Given the description of an element on the screen output the (x, y) to click on. 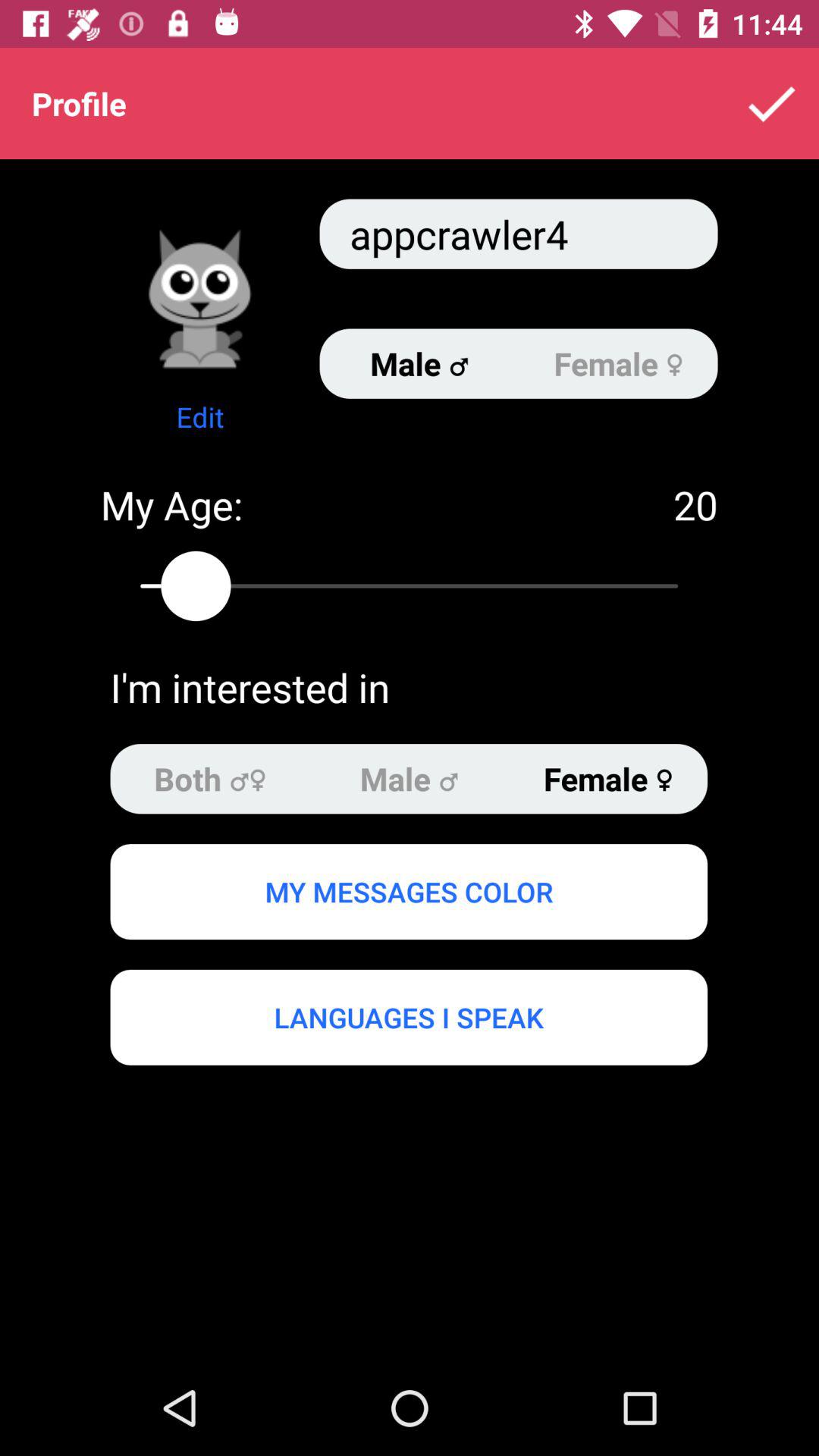
jump until appcrawler4 icon (518, 234)
